Given the description of an element on the screen output the (x, y) to click on. 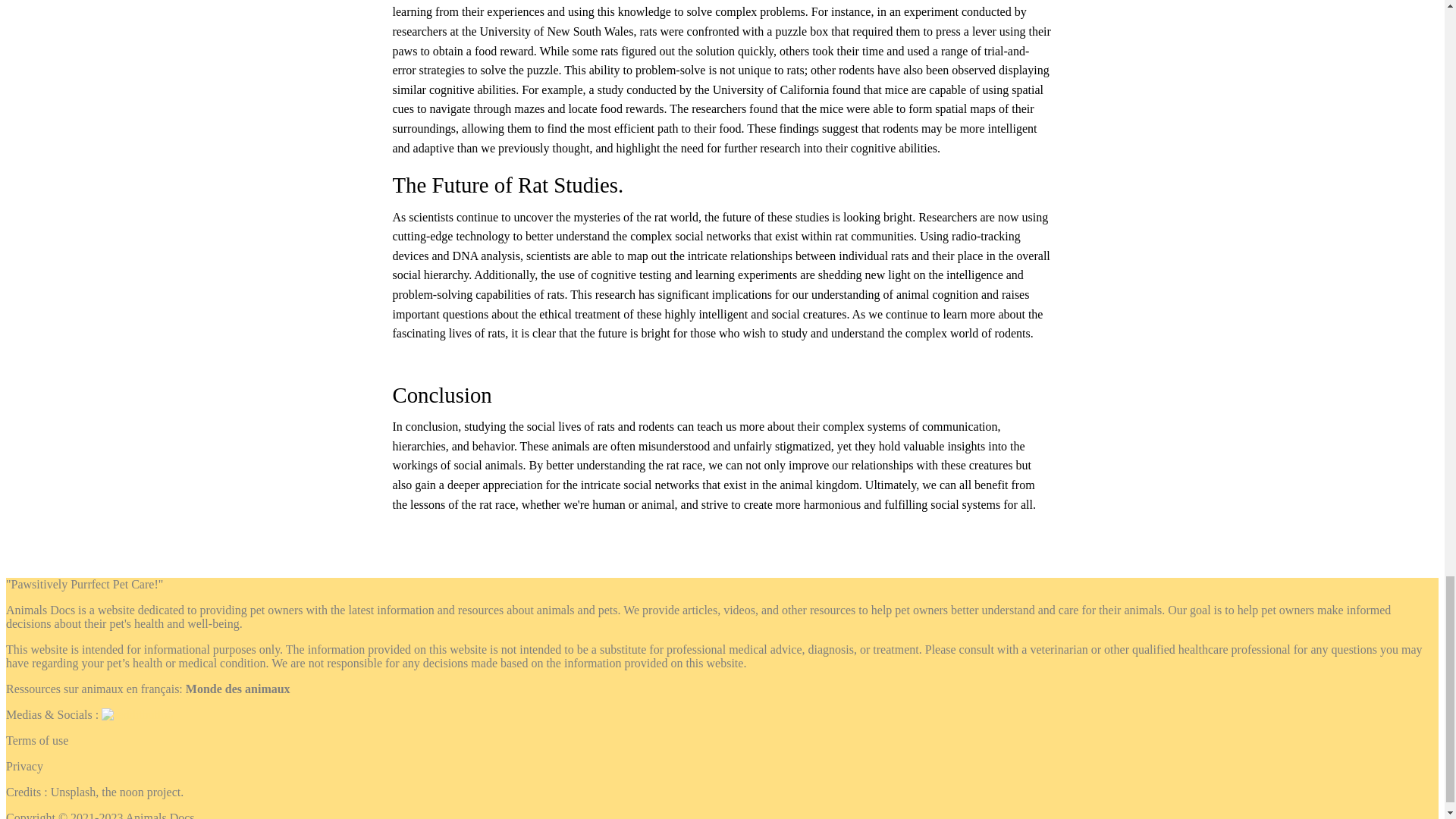
Terms of use (36, 739)
Monde des animaux (237, 688)
Privacy (24, 766)
Unsplash (73, 791)
the noon project (140, 791)
